Given the description of an element on the screen output the (x, y) to click on. 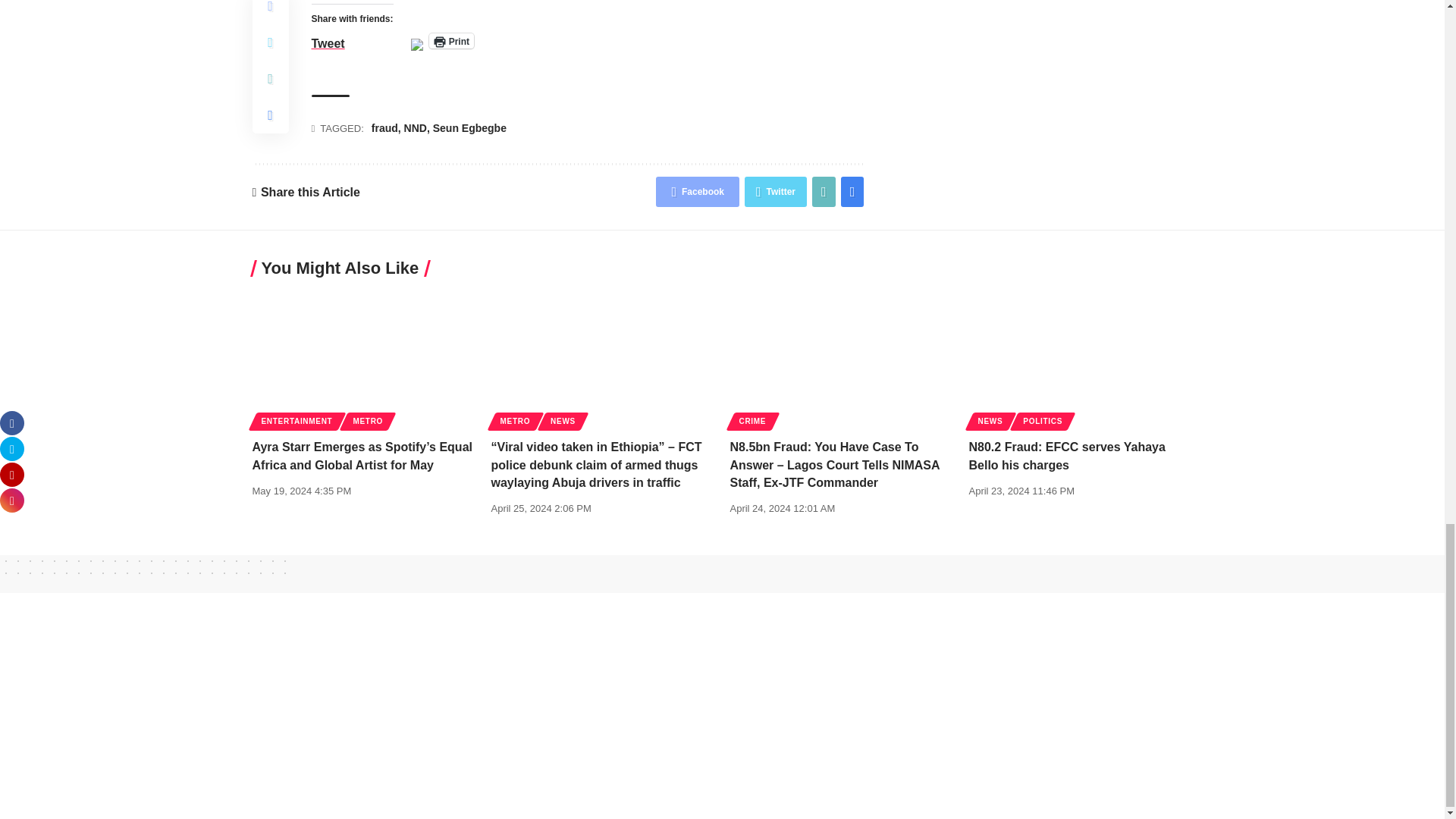
Click to print (451, 40)
N80.2 Fraud: EFCC serves Yahaya Bello his charges (1080, 358)
